Given the description of an element on the screen output the (x, y) to click on. 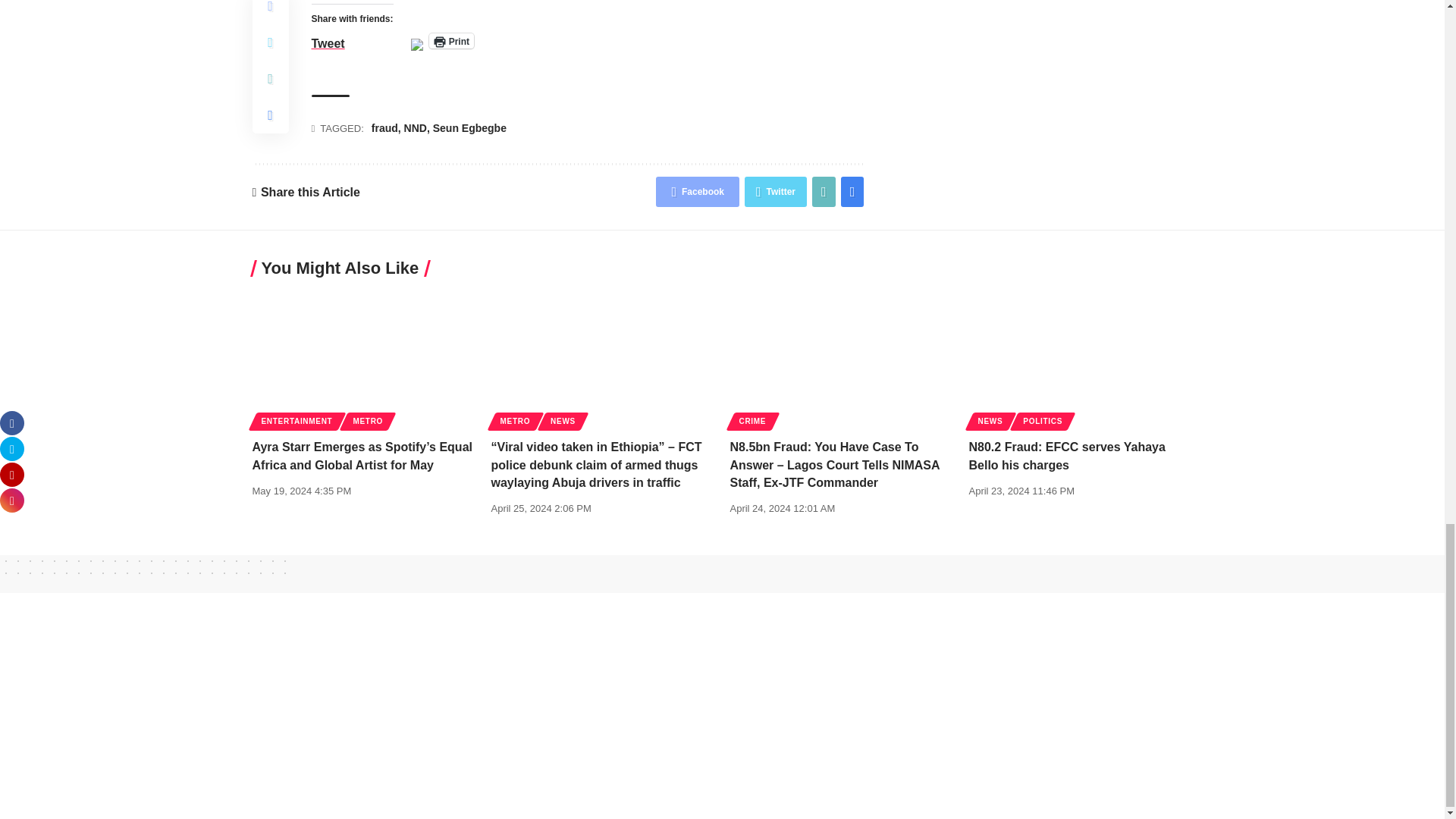
Click to print (451, 40)
N80.2 Fraud: EFCC serves Yahaya Bello his charges (1080, 358)
